Given the description of an element on the screen output the (x, y) to click on. 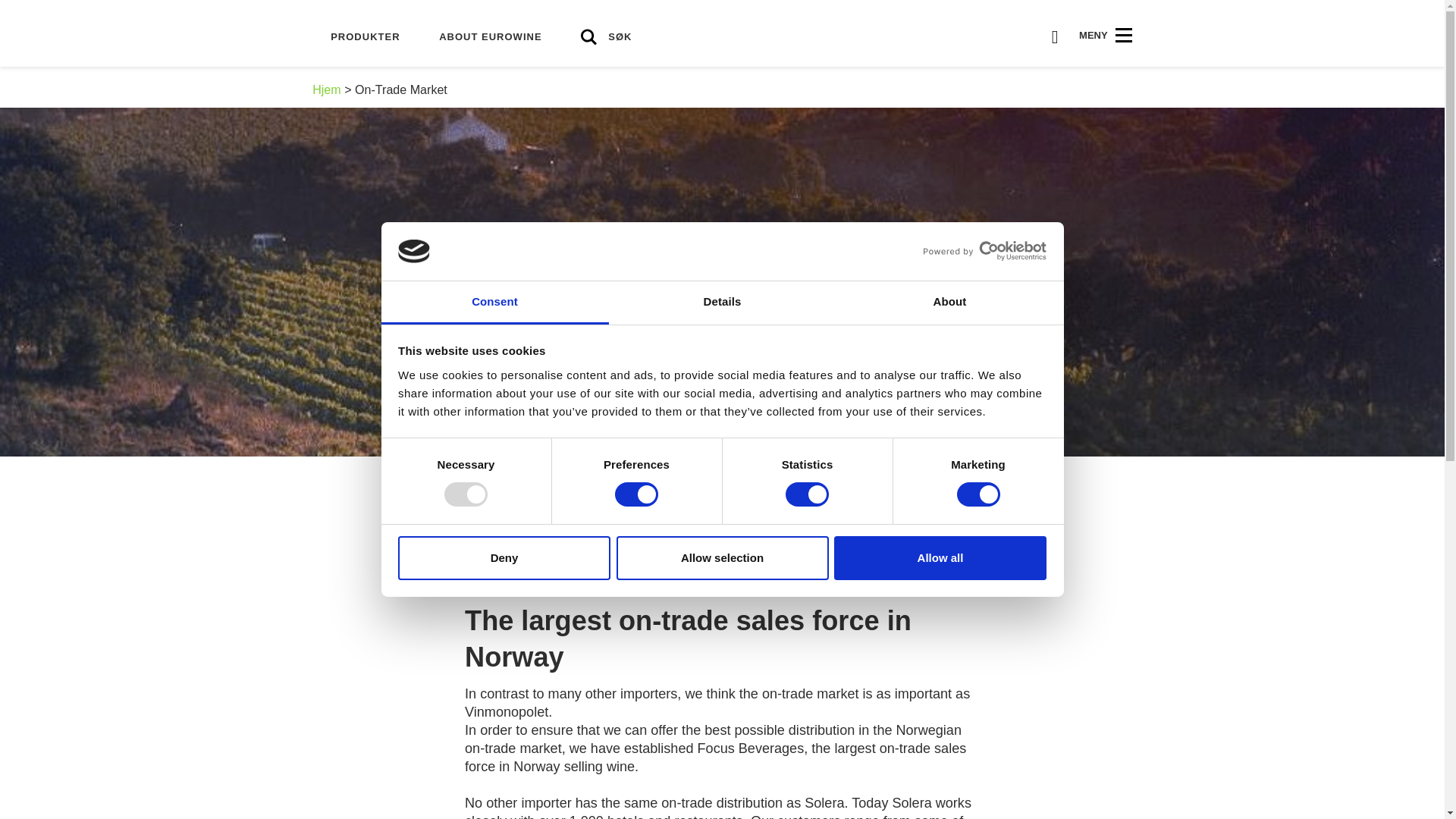
Details (721, 302)
Allow all (940, 557)
About (948, 302)
Deny (503, 557)
Consent (494, 302)
ABOUT EUROWINE (489, 37)
PRODUKTER (365, 37)
MENY (1105, 34)
Allow selection (721, 557)
